Given the description of an element on the screen output the (x, y) to click on. 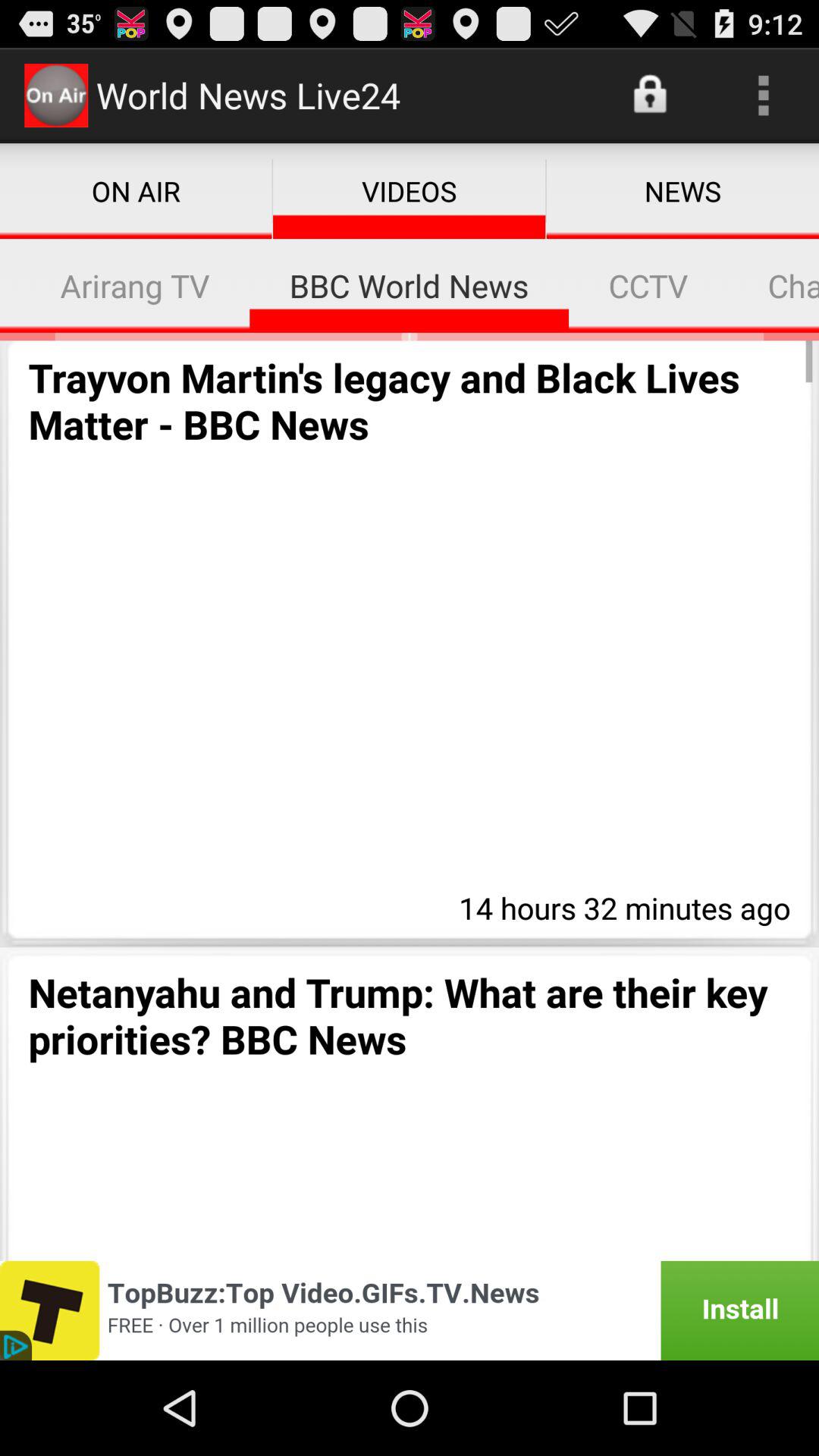
swipe until 14 hours 32 app (620, 905)
